Given the description of an element on the screen output the (x, y) to click on. 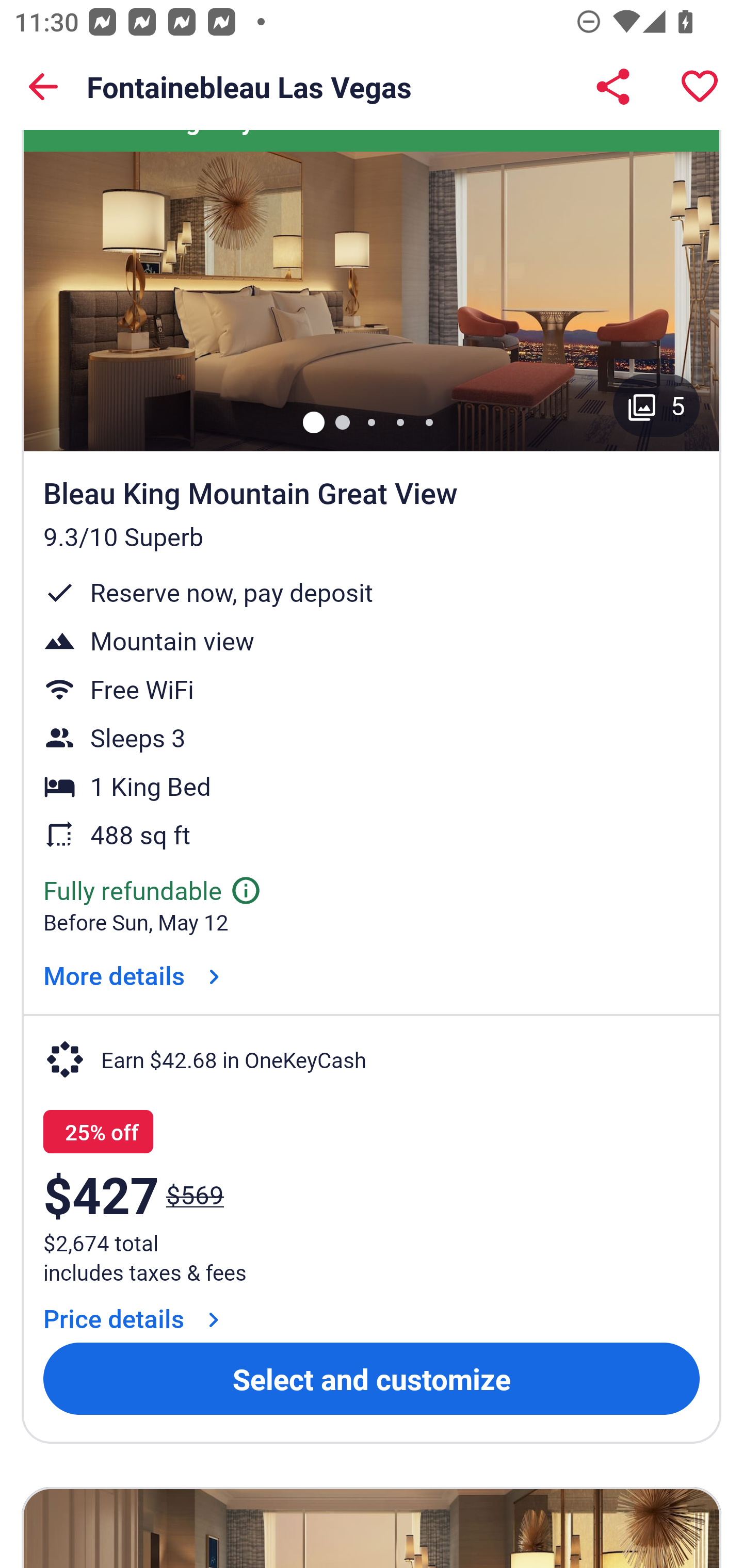
Back (43, 86)
Save property to a trip (699, 86)
Share Fontainebleau Las Vegas (612, 87)
Gallery button with 5 images (655, 405)
Fully refundable (152, 889)
$569 The price was $569 (194, 1193)
Select and customize (371, 1378)
